Given the description of an element on the screen output the (x, y) to click on. 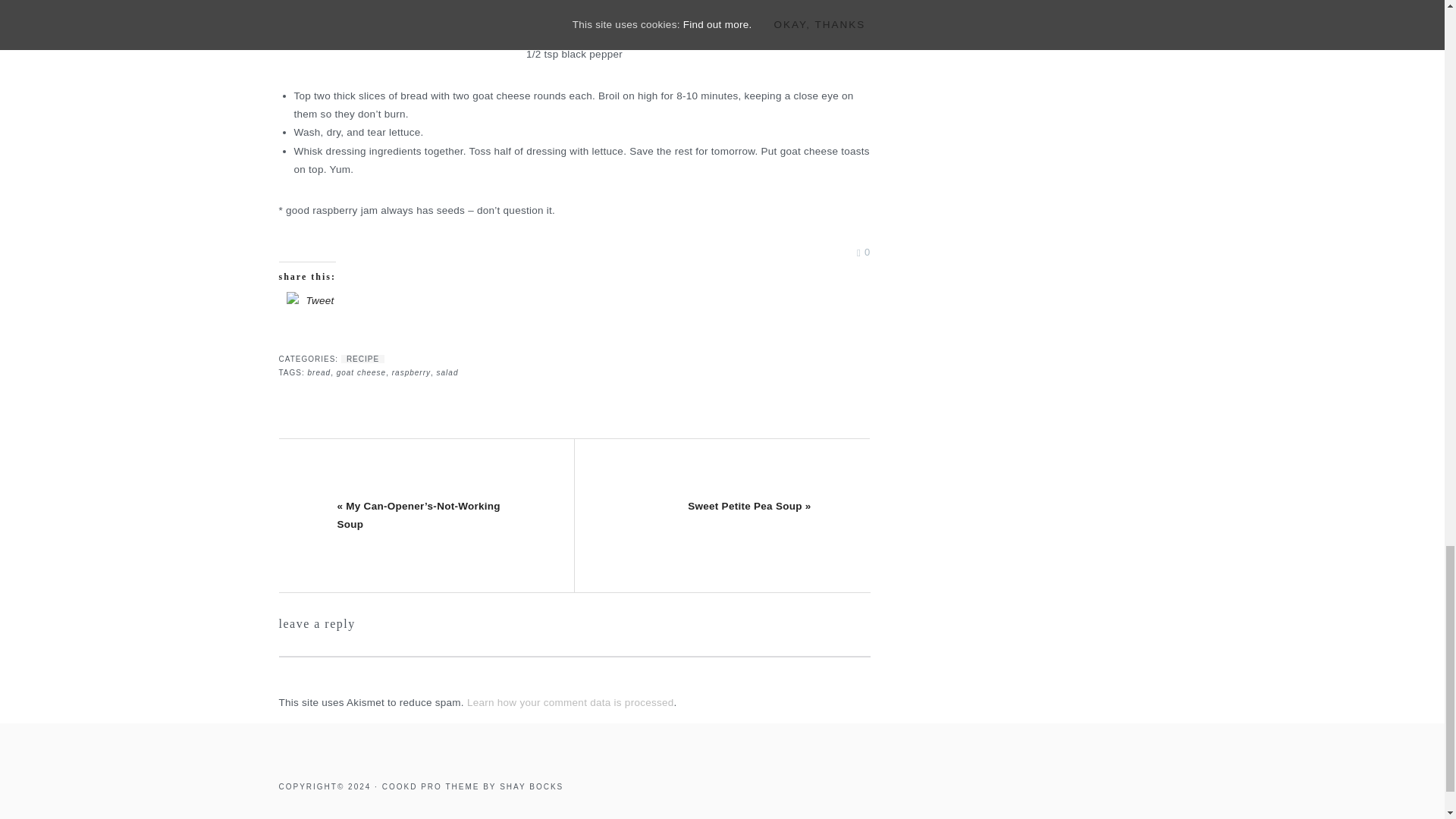
Learn how your comment data is processed (570, 702)
RECIPE (362, 358)
Tweet (319, 300)
goat cheese (361, 372)
salad (447, 372)
bread (319, 372)
raspberry (410, 372)
